Given the description of an element on the screen output the (x, y) to click on. 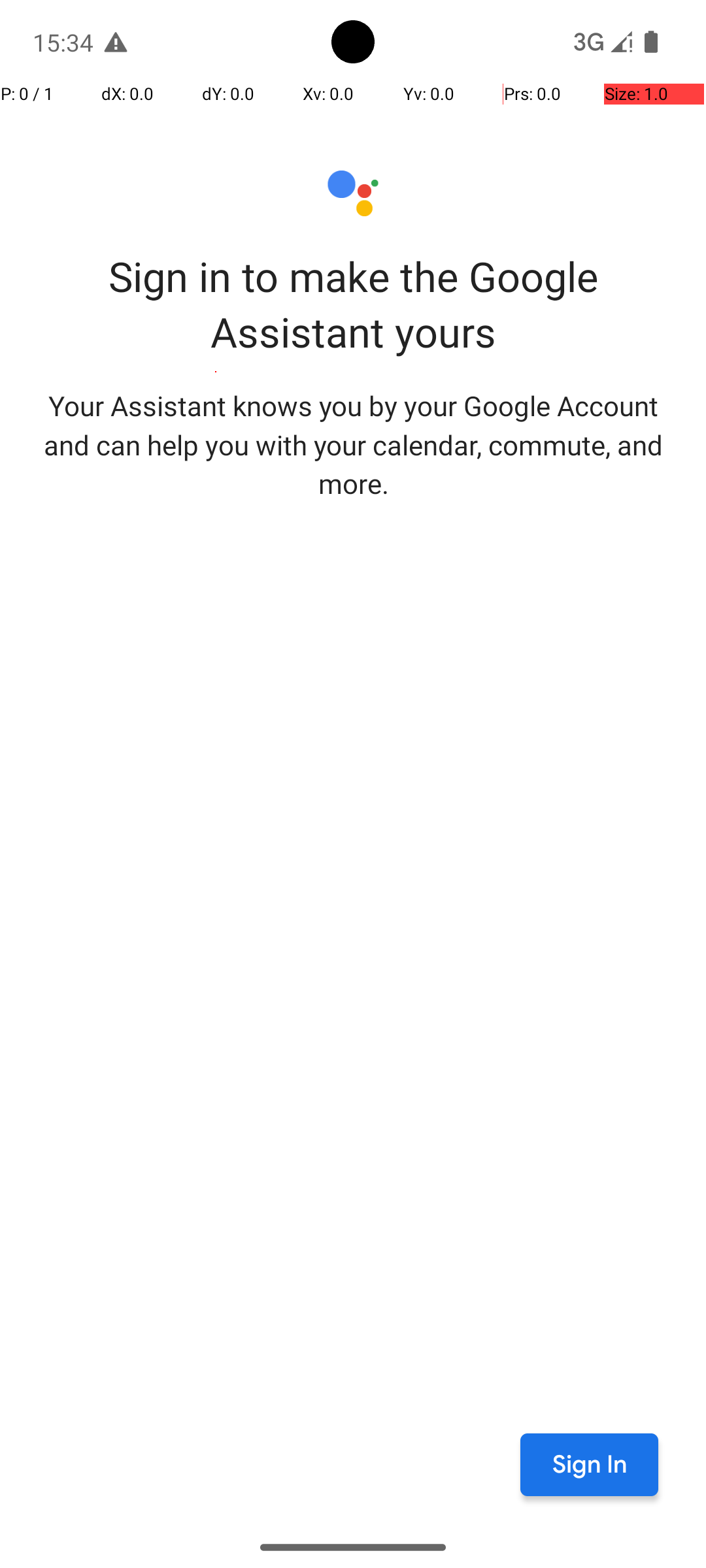
Sign In Element type: android.widget.Button (588, 1464)
Sign in to make the Google Assistant yours Element type: android.widget.TextView (352, 303)
Your Assistant knows you by your Google Account and can help you with your calendar, commute, and more. Element type: android.widget.TextView (352, 443)
